Given the description of an element on the screen output the (x, y) to click on. 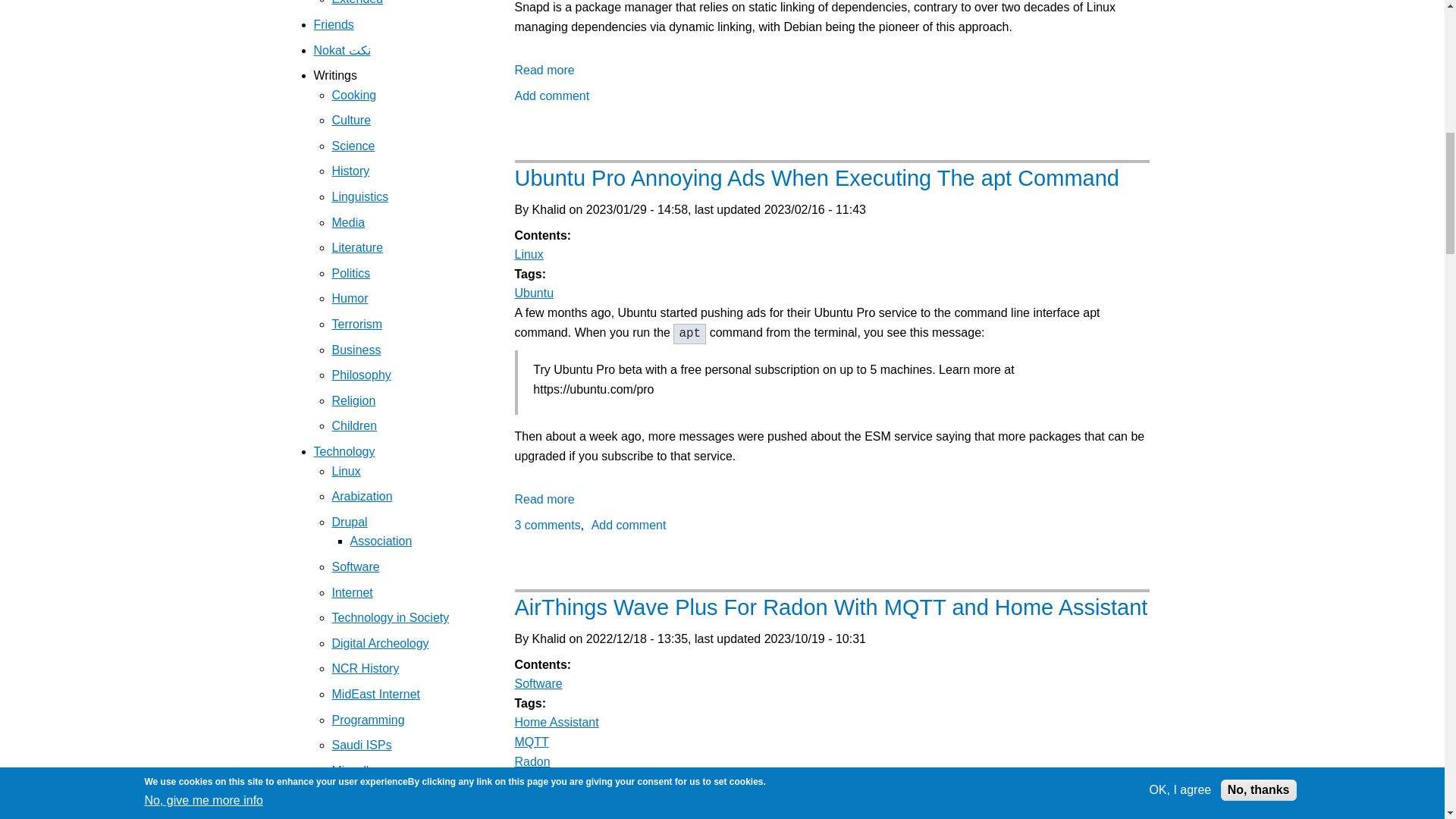
How To Remove Snapd From Ubuntu  (543, 69)
MQTT (530, 741)
3 comments (546, 524)
Ubuntu (533, 292)
Radon (531, 761)
Add comment (551, 95)
Add a new comment to this page. (628, 524)
Jump to the first comment of this posting. (546, 524)
